Given the description of an element on the screen output the (x, y) to click on. 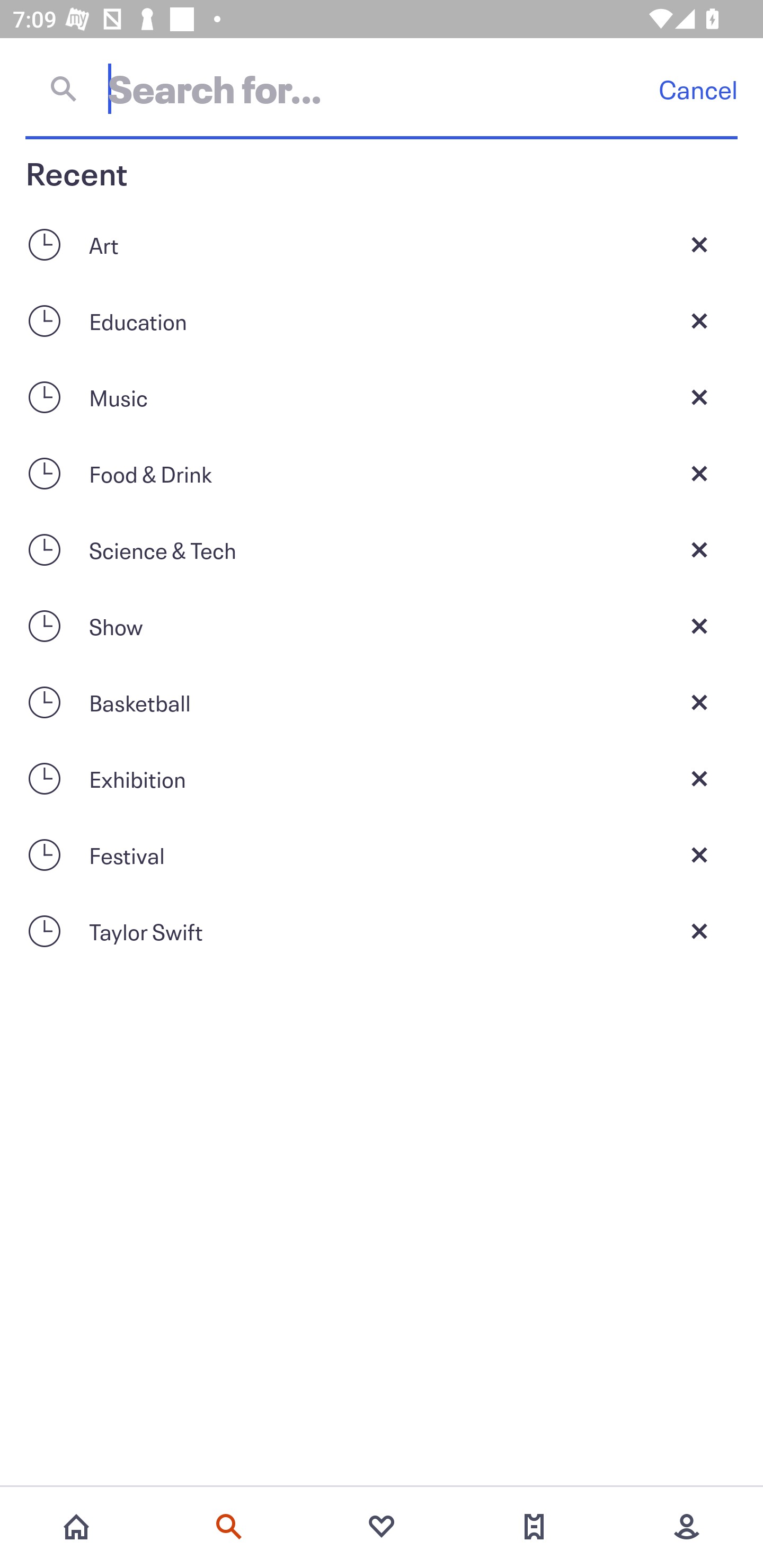
Cancel Search for… (381, 88)
Cancel (697, 89)
Art Close current screen (381, 244)
Close current screen (699, 244)
Education Close current screen (381, 320)
Close current screen (699, 320)
Music Close current screen (381, 397)
Close current screen (699, 397)
Food & Drink Close current screen (381, 473)
Close current screen (699, 473)
Science & Tech Close current screen (381, 549)
Close current screen (699, 549)
Show Close current screen (381, 626)
Close current screen (699, 626)
Basketball Close current screen (381, 702)
Close current screen (699, 702)
Exhibition Close current screen (381, 778)
Close current screen (699, 778)
Festival Close current screen (381, 854)
Close current screen (699, 854)
Taylor Swift Close current screen (381, 931)
Close current screen (699, 931)
Home (76, 1526)
Search events (228, 1526)
Favorites (381, 1526)
Tickets (533, 1526)
More (686, 1526)
